Given the description of an element on the screen output the (x, y) to click on. 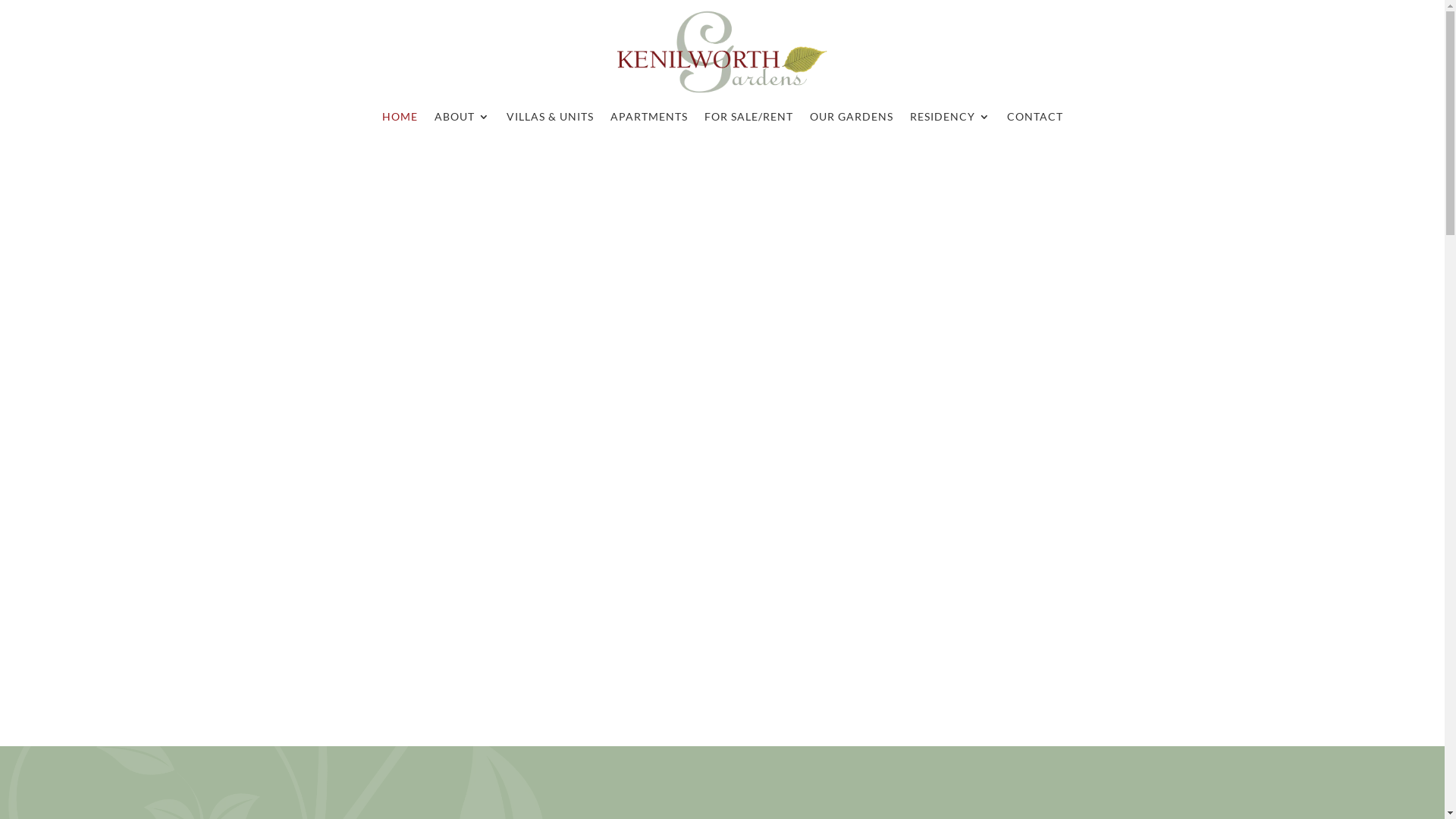
FOR SALE/RENT Element type: text (747, 119)
Kenilworth Gardens Element type: hover (721, 52)
CONTACT Element type: text (1035, 119)
ABOUT Element type: text (461, 119)
RESIDENCY Element type: text (950, 119)
HOME Element type: text (399, 119)
APARTMENTS Element type: text (648, 119)
VILLAS & UNITS Element type: text (549, 119)
OUR GARDENS Element type: text (851, 119)
